Given the description of an element on the screen output the (x, y) to click on. 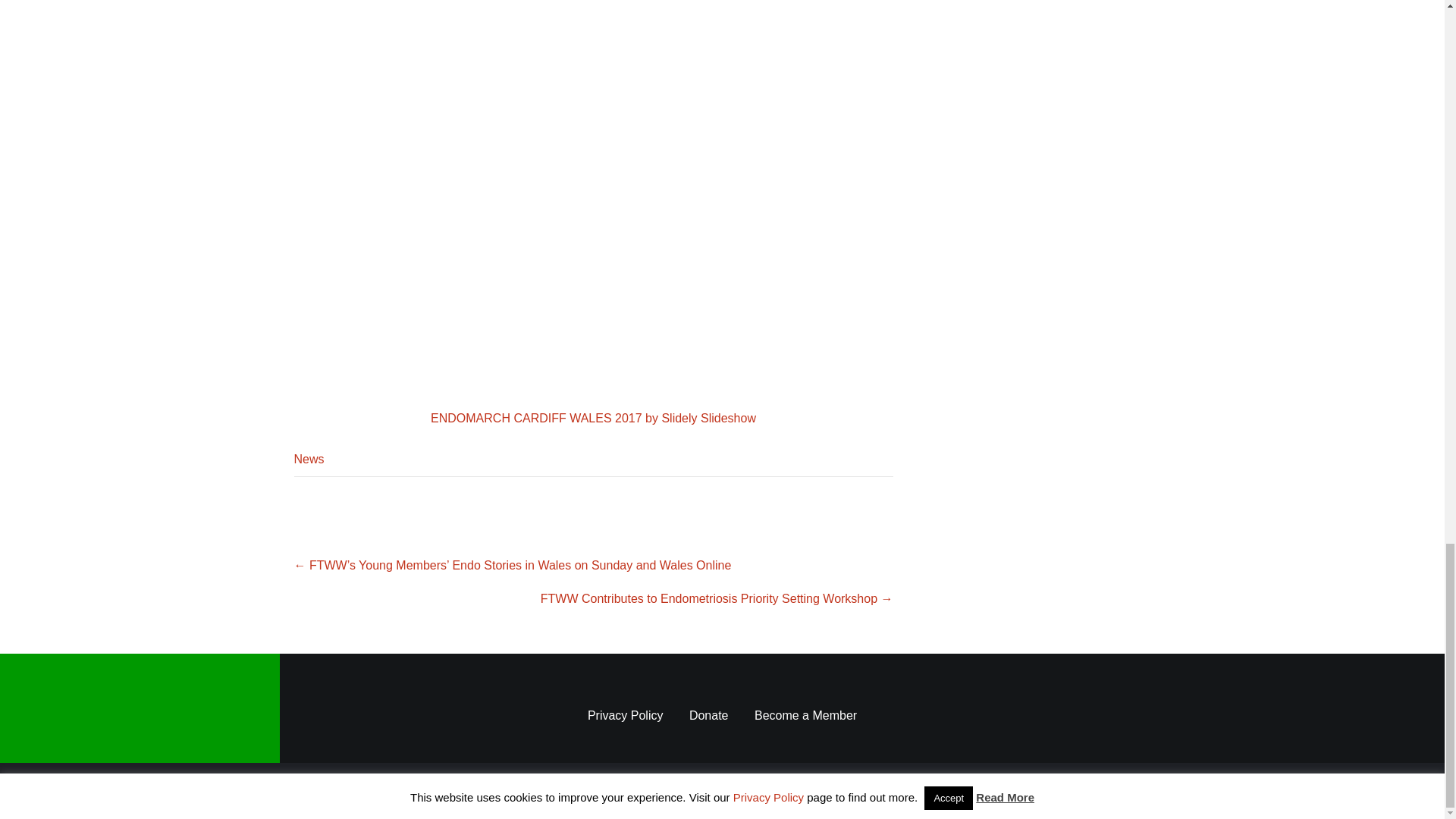
View all posts in News (309, 459)
Go to ENDOMARCH CARDIFF WALES 2017 (708, 418)
